Given the description of an element on the screen output the (x, y) to click on. 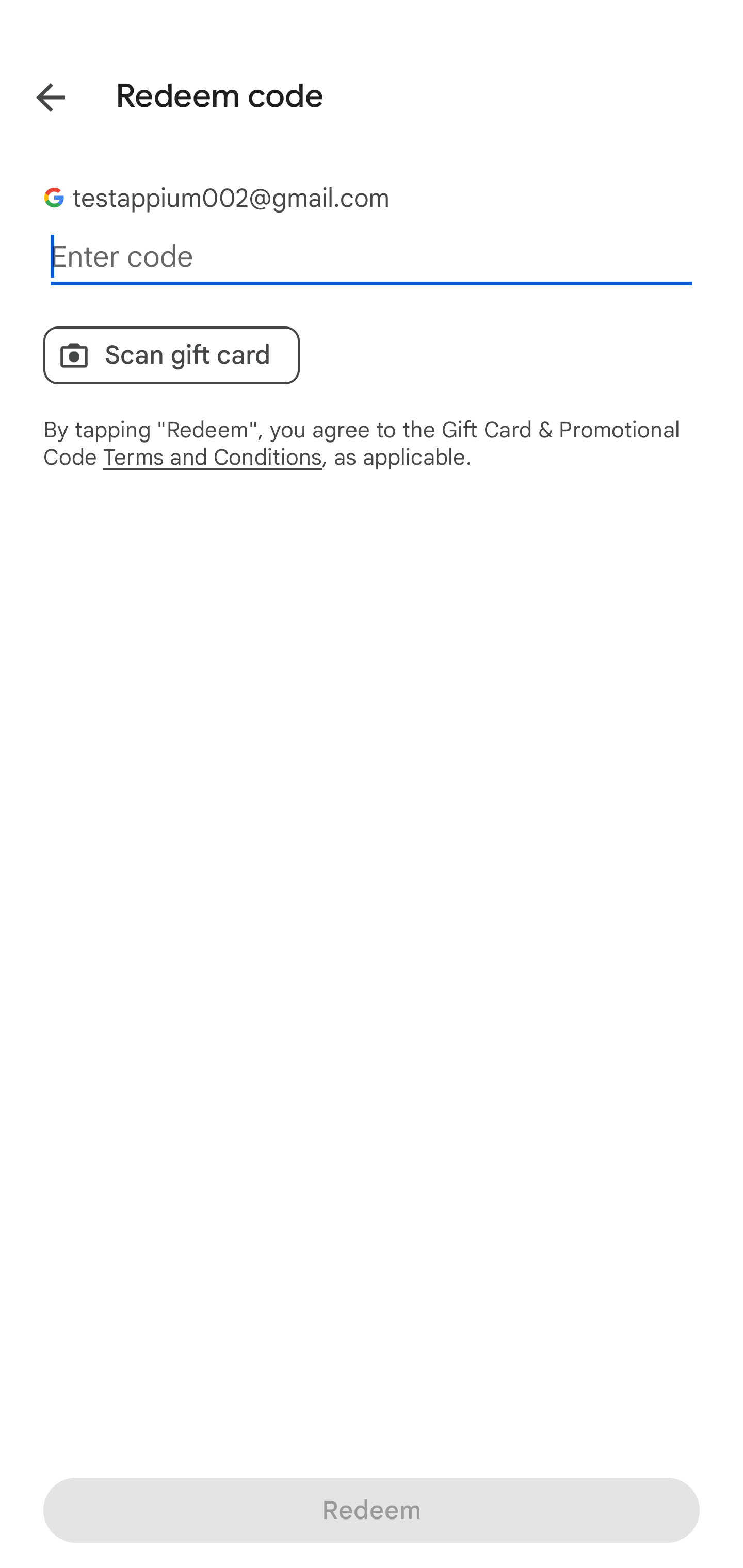
Back (36, 94)
Enter code (371, 256)
Scan gift card (171, 355)
